Given the description of an element on the screen output the (x, y) to click on. 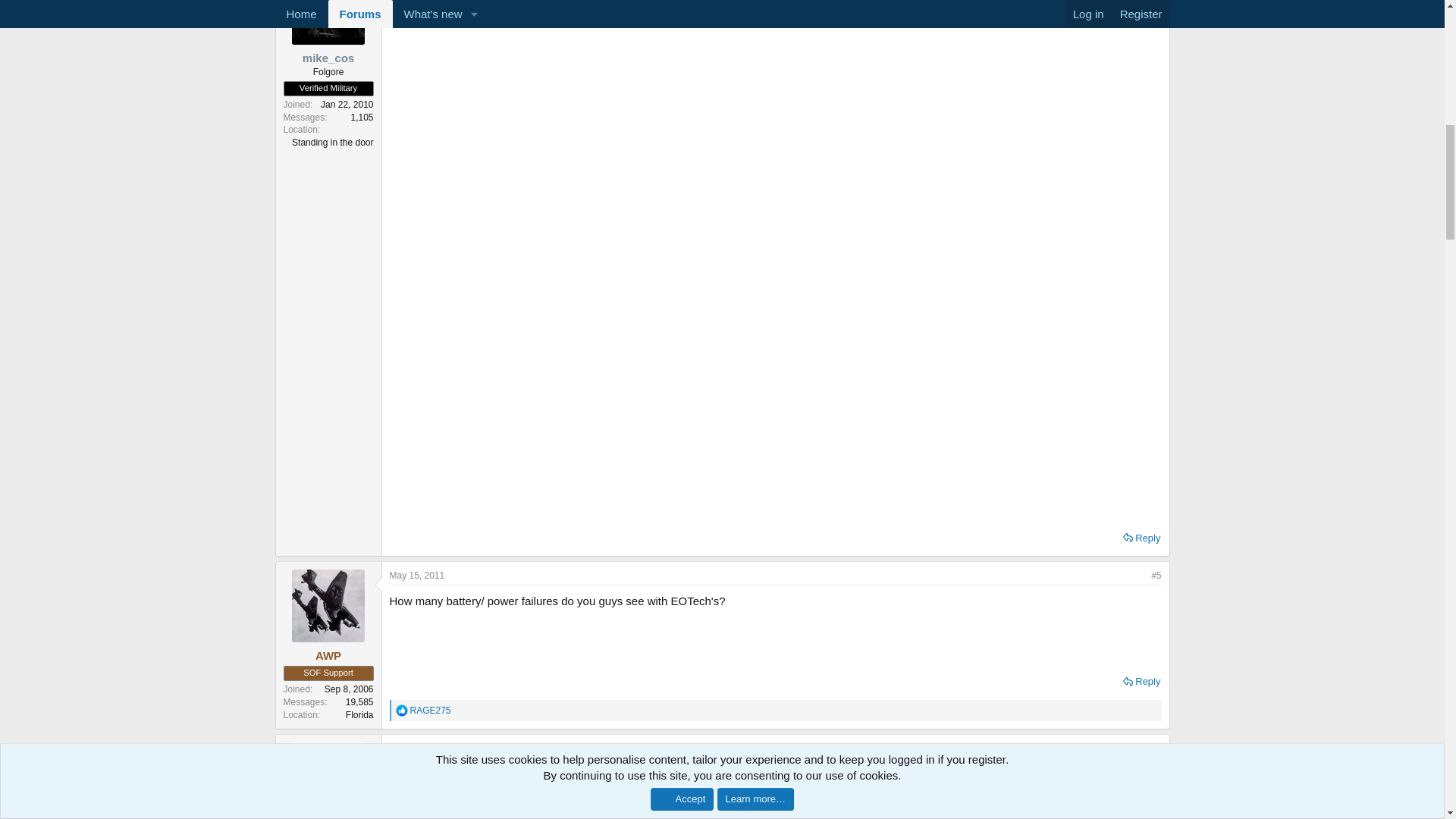
May 15, 2011 at 12:52 AM (417, 575)
Like (401, 710)
Reply, quoting this message (1141, 681)
May 15, 2011 at 2:09 AM (417, 747)
Reply, quoting this message (1141, 537)
